Given the description of an element on the screen output the (x, y) to click on. 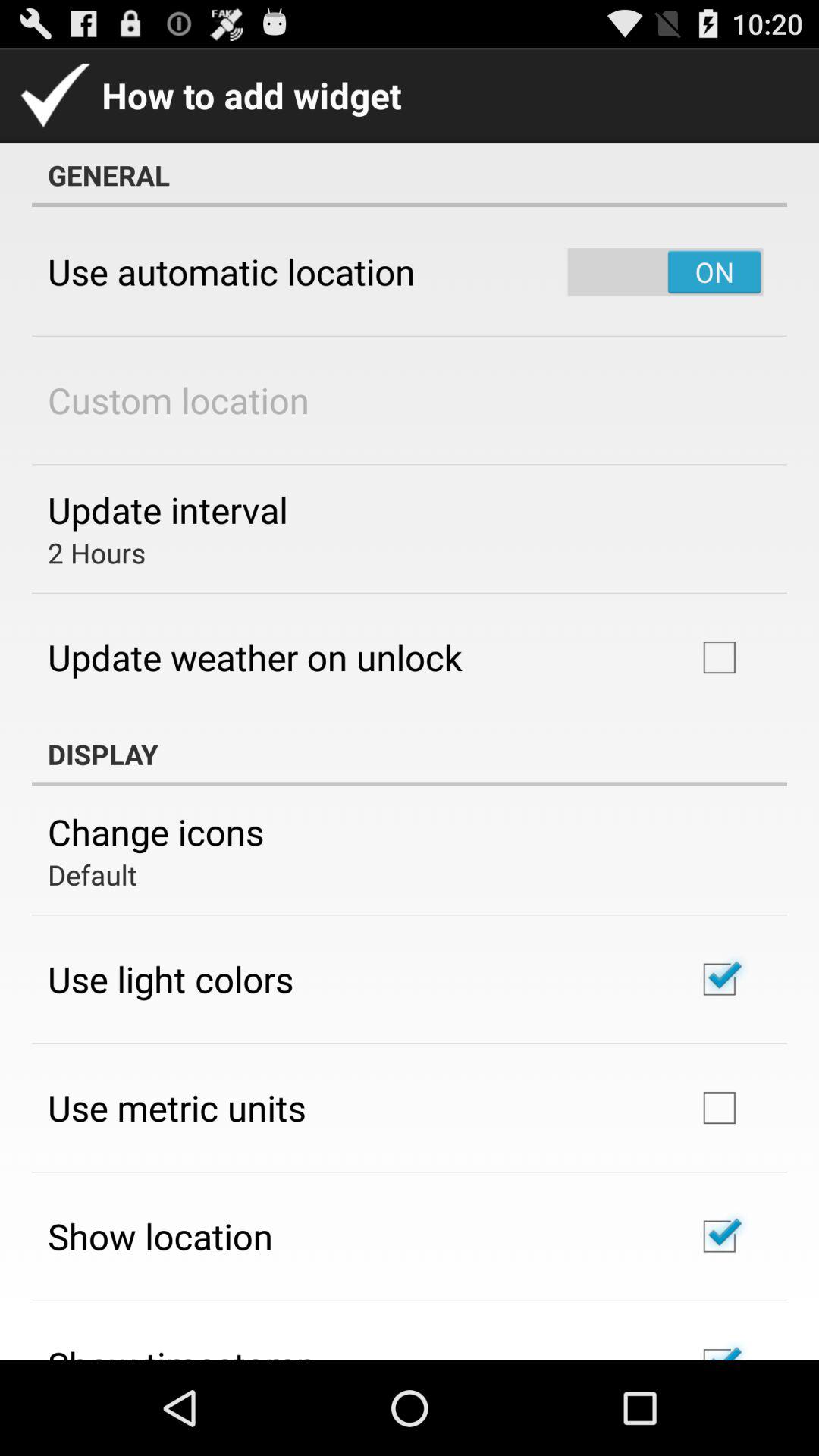
tap custom location icon (178, 399)
